Given the description of an element on the screen output the (x, y) to click on. 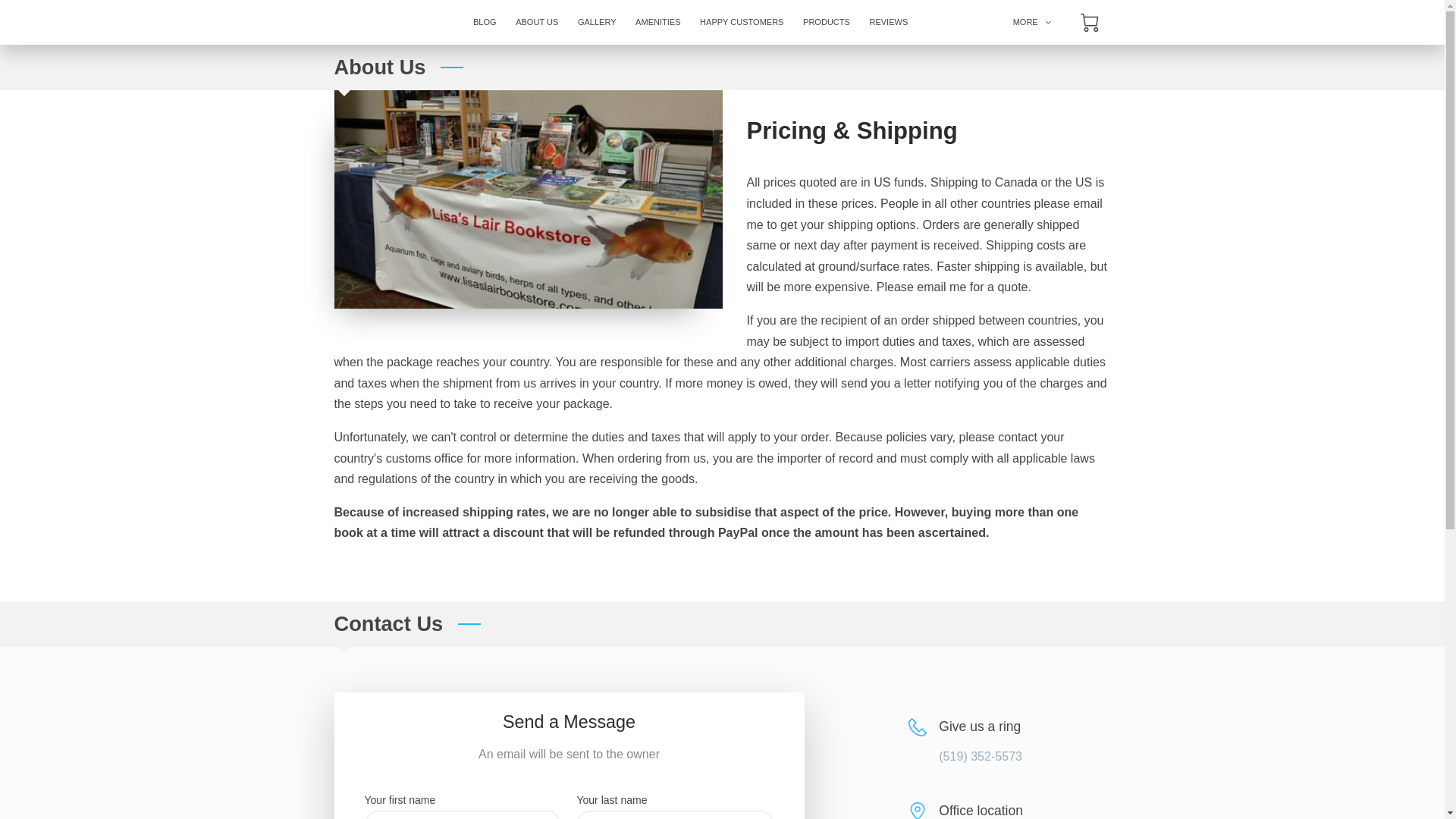
ABOUT US (536, 22)
PRODUCTS (826, 22)
HAPPY CUSTOMERS (741, 22)
AMENITIES (658, 22)
BLOG (484, 22)
GALLERY (596, 22)
0 (1088, 22)
REVIEWS (888, 22)
